Given the description of an element on the screen output the (x, y) to click on. 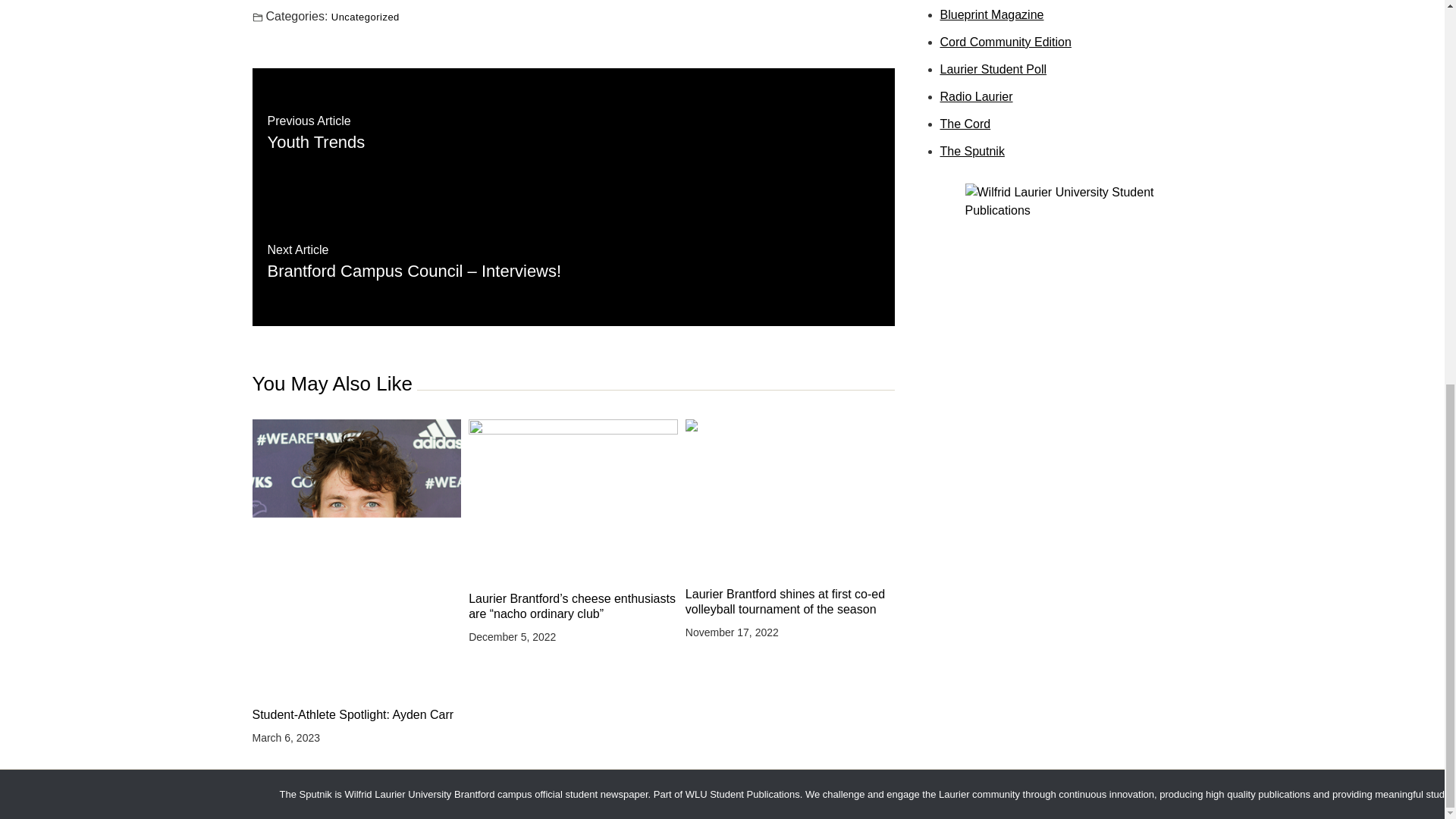
Uncategorized (364, 16)
The Sputnik (972, 151)
The Cord (965, 123)
Student-Athlete Spotlight: Ayden Carr (356, 714)
Blueprint Magazine (991, 14)
Laurier Student Poll (993, 69)
Cord Community Edition (1005, 42)
Radio Laurier (976, 96)
